Given the description of an element on the screen output the (x, y) to click on. 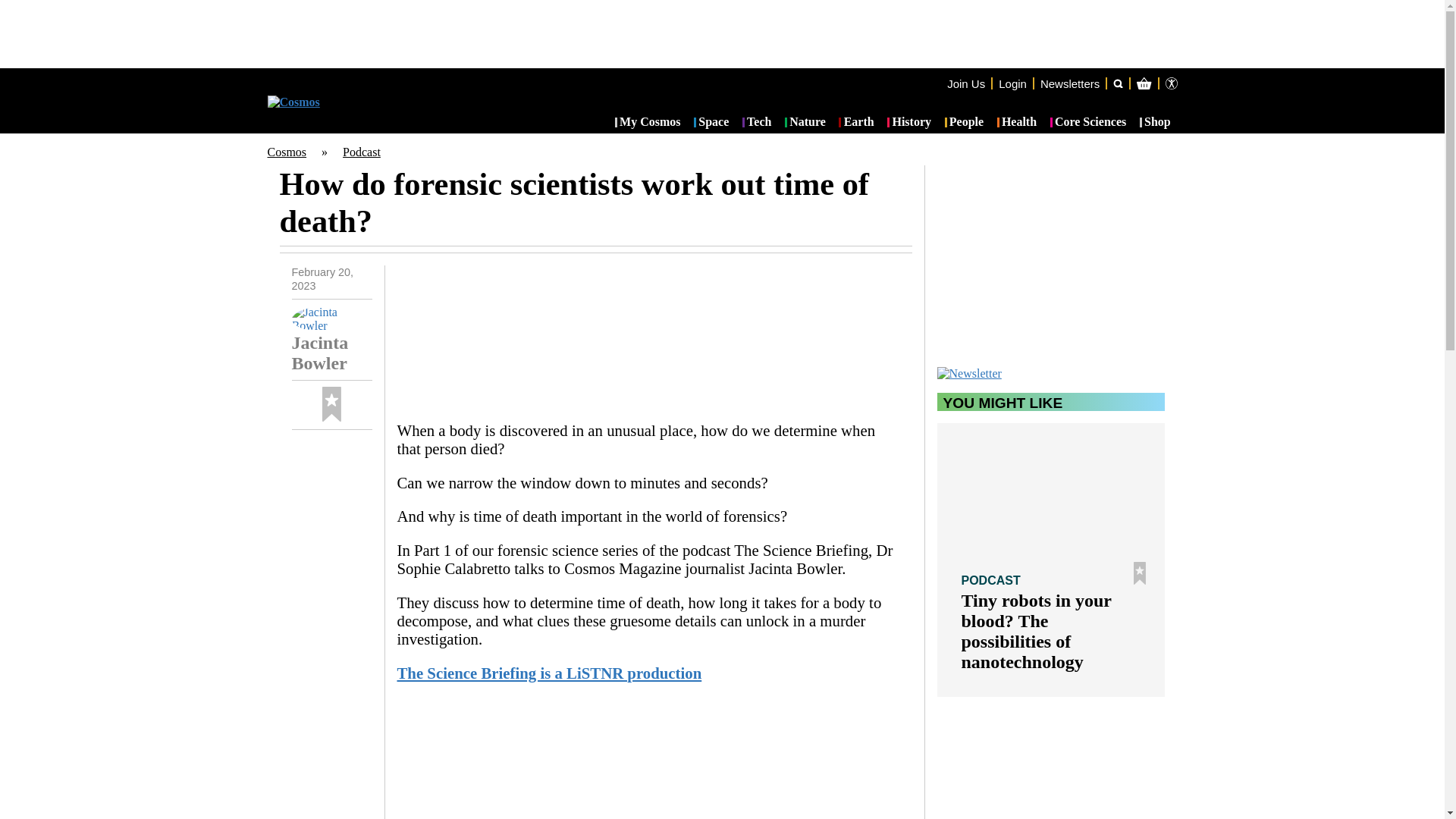
People (964, 122)
Space (711, 122)
Shop (1155, 122)
The Science Briefing (648, 758)
Tech (756, 122)
The Science Briefing is a LiSTNR production (549, 672)
Jacinta Bowler (331, 339)
Newsletters (1070, 82)
Earth (855, 122)
History (908, 122)
My Cosmos (647, 122)
Nature (804, 122)
Login (1012, 82)
Join Us (966, 82)
Podcast (361, 151)
